Given the description of an element on the screen output the (x, y) to click on. 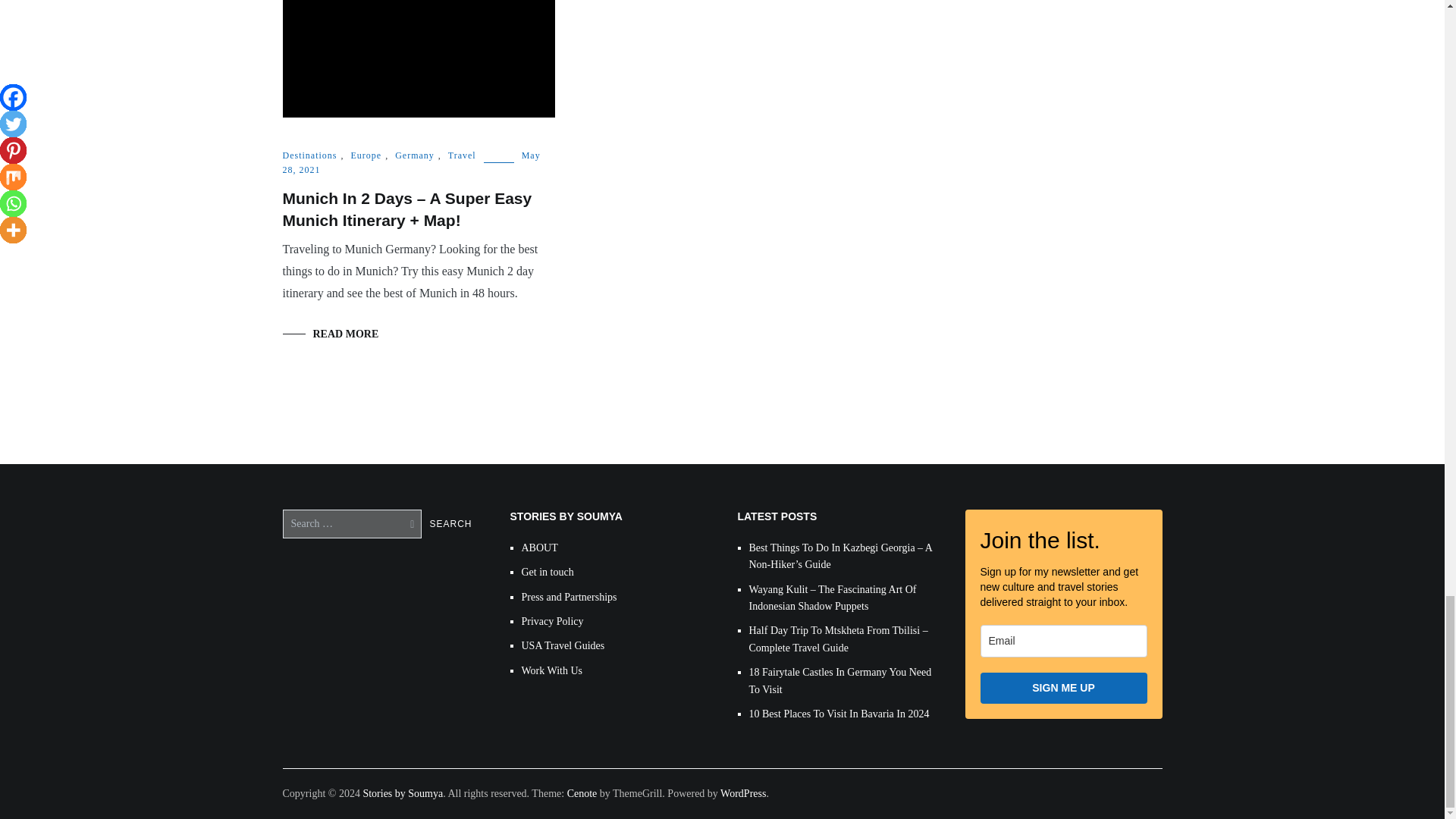
Search (450, 523)
Search (450, 523)
